Given the description of an element on the screen output the (x, y) to click on. 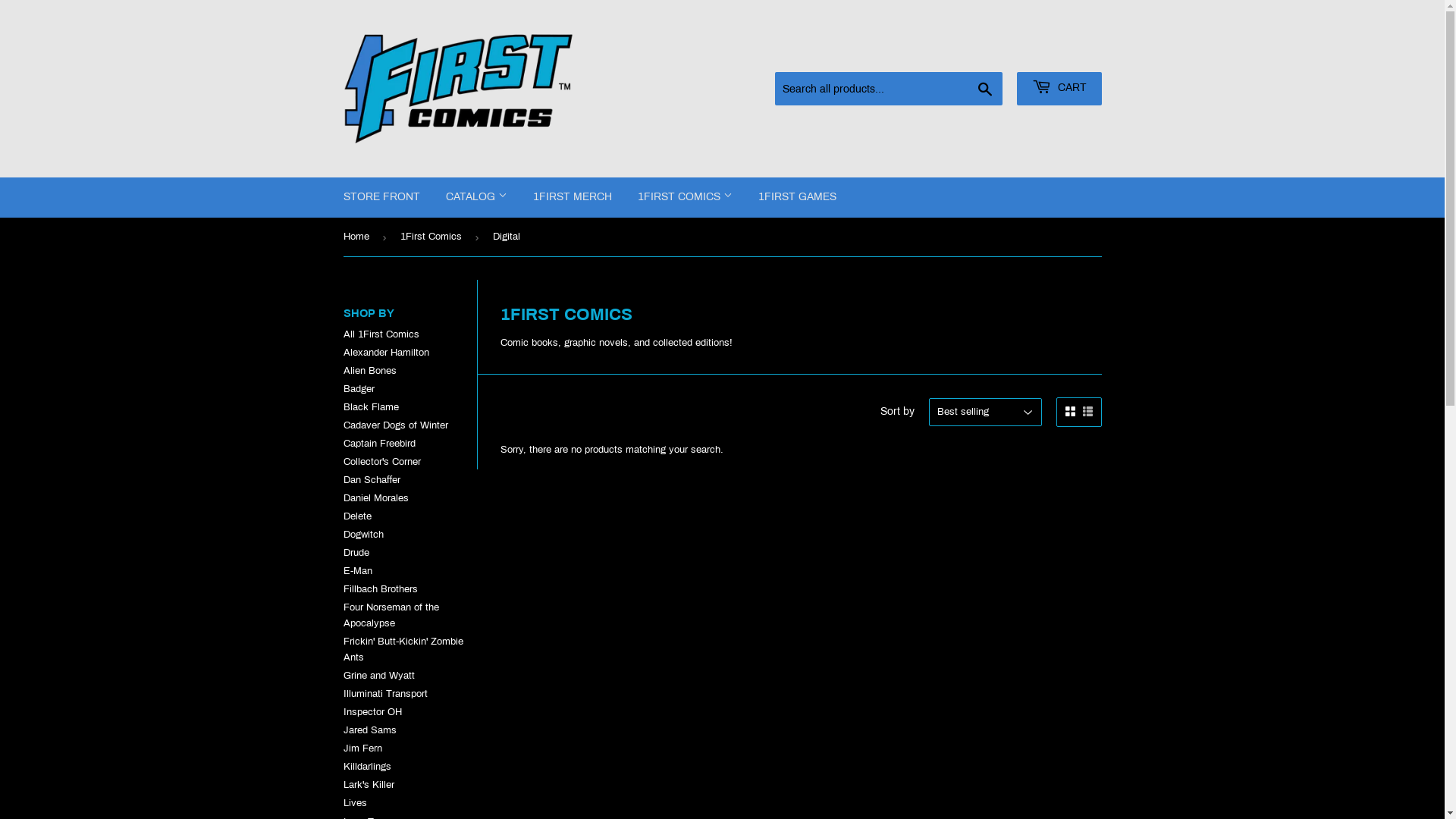
Cadaver Dogs of Winter Element type: text (394, 425)
Frickin' Butt-Kickin' Zombie Ants Element type: text (402, 649)
Daniel Morales Element type: text (374, 497)
Delete Element type: text (356, 516)
1FIRST GAMES Element type: text (796, 196)
Home Element type: text (357, 236)
CART Element type: text (1058, 88)
Grid view Element type: hover (1069, 411)
Collector's Corner Element type: text (381, 461)
Alien Bones Element type: text (368, 370)
Fillbach Brothers Element type: text (379, 588)
Drude Element type: text (355, 552)
List view Element type: hover (1087, 411)
Captain Freebird Element type: text (378, 443)
Dan Schaffer Element type: text (370, 479)
Four Norseman of the Apocalypse Element type: text (390, 615)
Jared Sams Element type: text (368, 729)
Search Element type: text (984, 89)
Illuminati Transport Element type: text (384, 693)
CATALOG Element type: text (475, 196)
Jim Fern Element type: text (361, 748)
Inspector OH Element type: text (371, 711)
Lives Element type: text (354, 802)
1FIRST MERCH Element type: text (572, 196)
1FIRST COMICS Element type: text (684, 196)
E-Man Element type: text (356, 570)
Badger Element type: text (357, 388)
All 1First Comics Element type: text (380, 334)
Lark's Killer Element type: text (367, 784)
Killdarlings Element type: text (366, 766)
Black Flame Element type: text (370, 406)
STORE FRONT Element type: text (381, 196)
Grine and Wyatt Element type: text (378, 675)
Dogwitch Element type: text (362, 534)
1First Comics Element type: text (433, 236)
Alexander Hamilton Element type: text (385, 352)
